Given the description of an element on the screen output the (x, y) to click on. 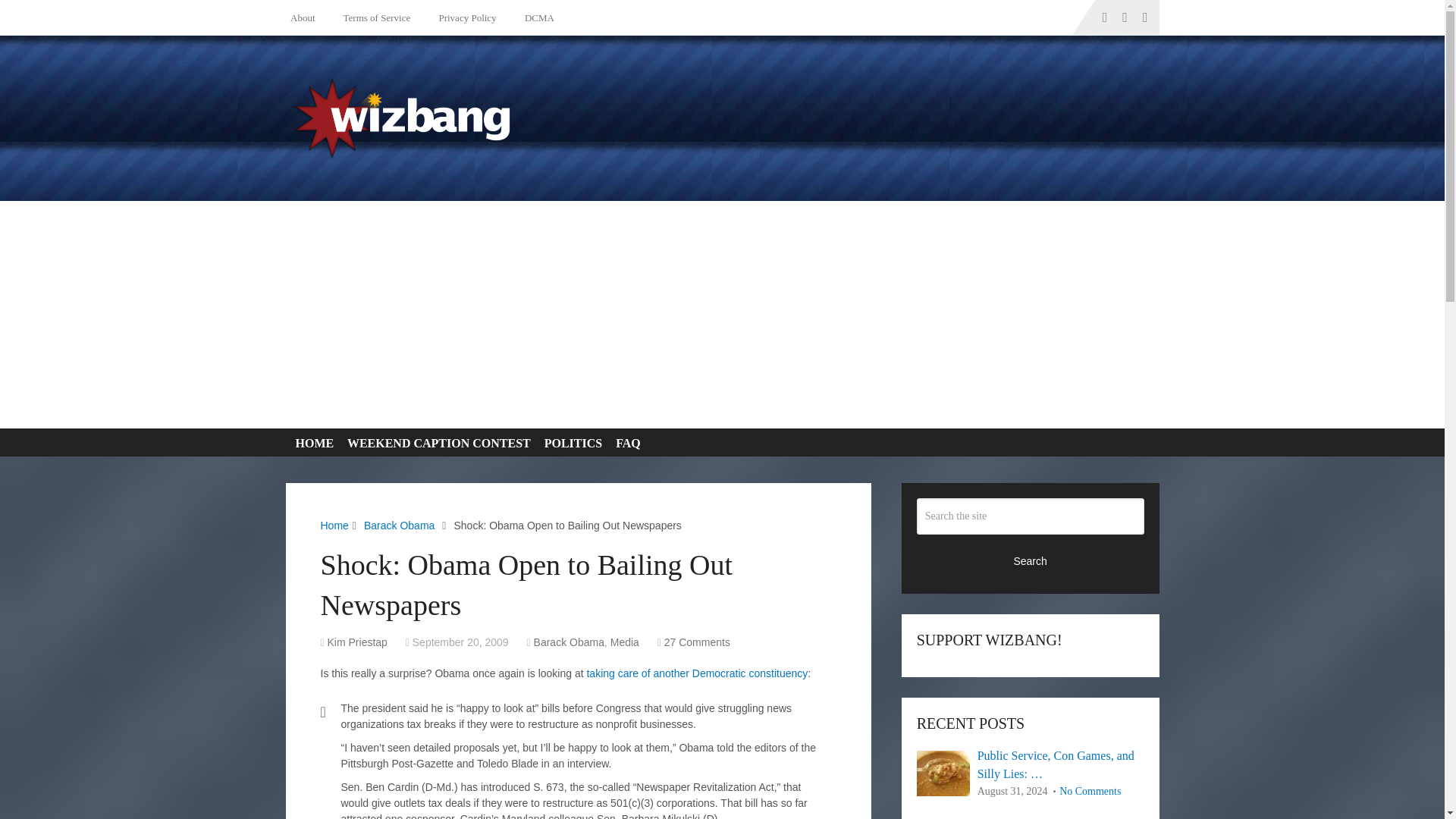
POLITICS (569, 443)
27 Comments (696, 642)
FAQ (625, 443)
WEEKEND CAPTION CONTEST (435, 443)
About (305, 17)
Barack Obama (569, 642)
View all posts in Barack Obama (569, 642)
